Given the description of an element on the screen output the (x, y) to click on. 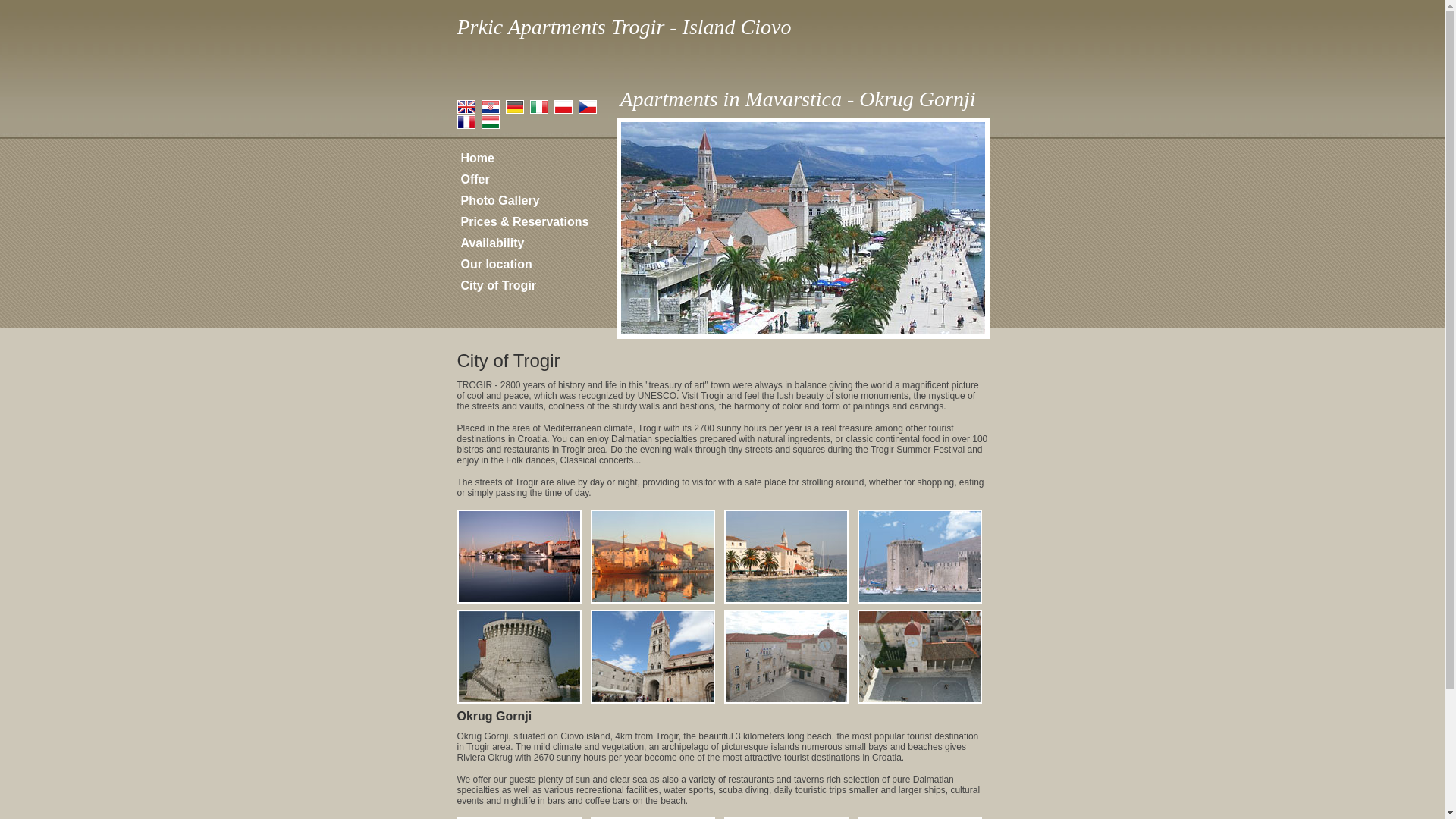
Our location (496, 264)
Availability (492, 242)
Photo Gallery (500, 200)
City of Trogir (499, 285)
Home (478, 157)
Offer (475, 178)
